Given the description of an element on the screen output the (x, y) to click on. 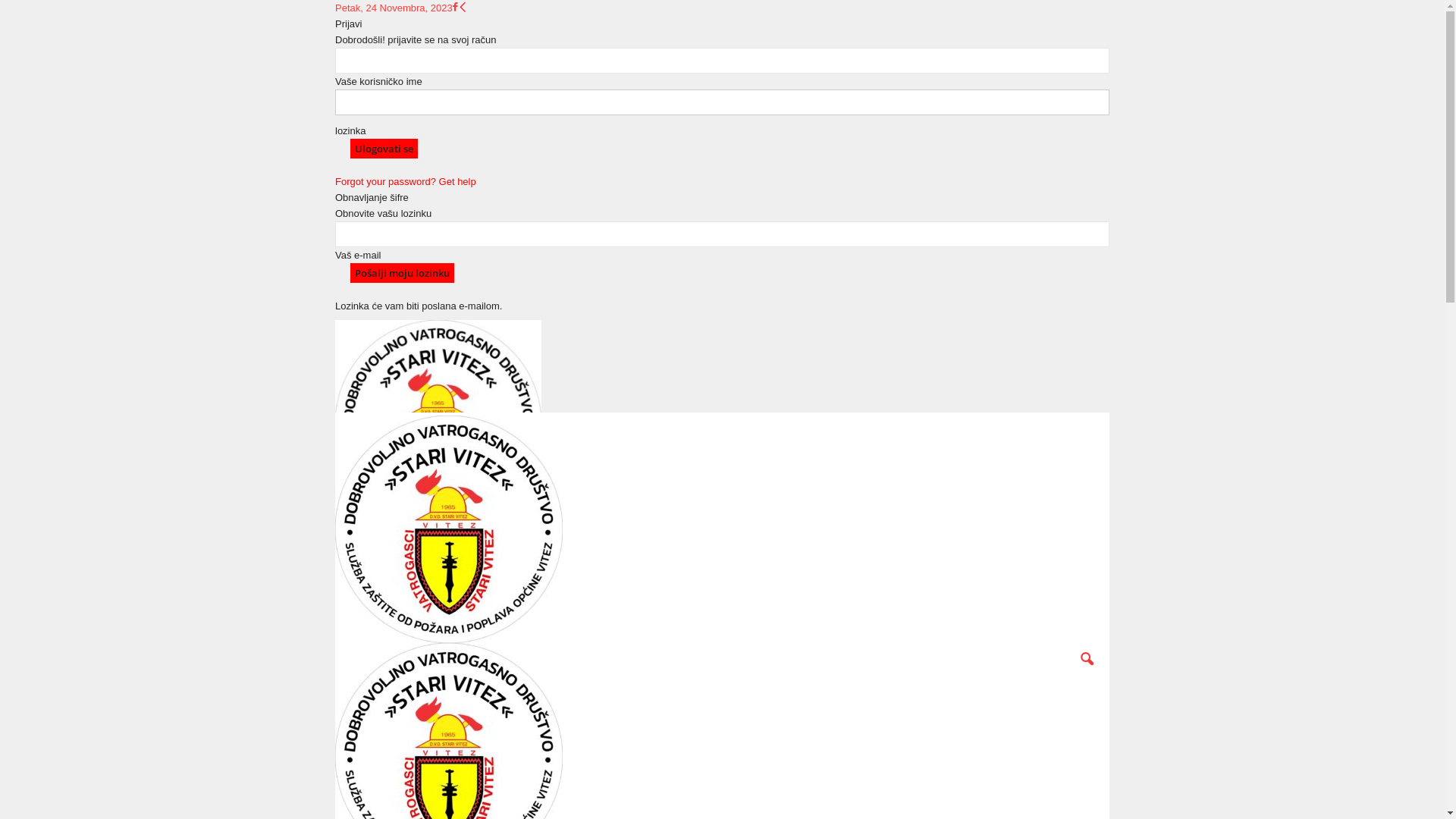
Facebook Element type: hover (455, 7)
Forgot your password? Get help Element type: text (405, 181)
DVD Stari Vitez Element type: text (438, 363)
